Given the description of an element on the screen output the (x, y) to click on. 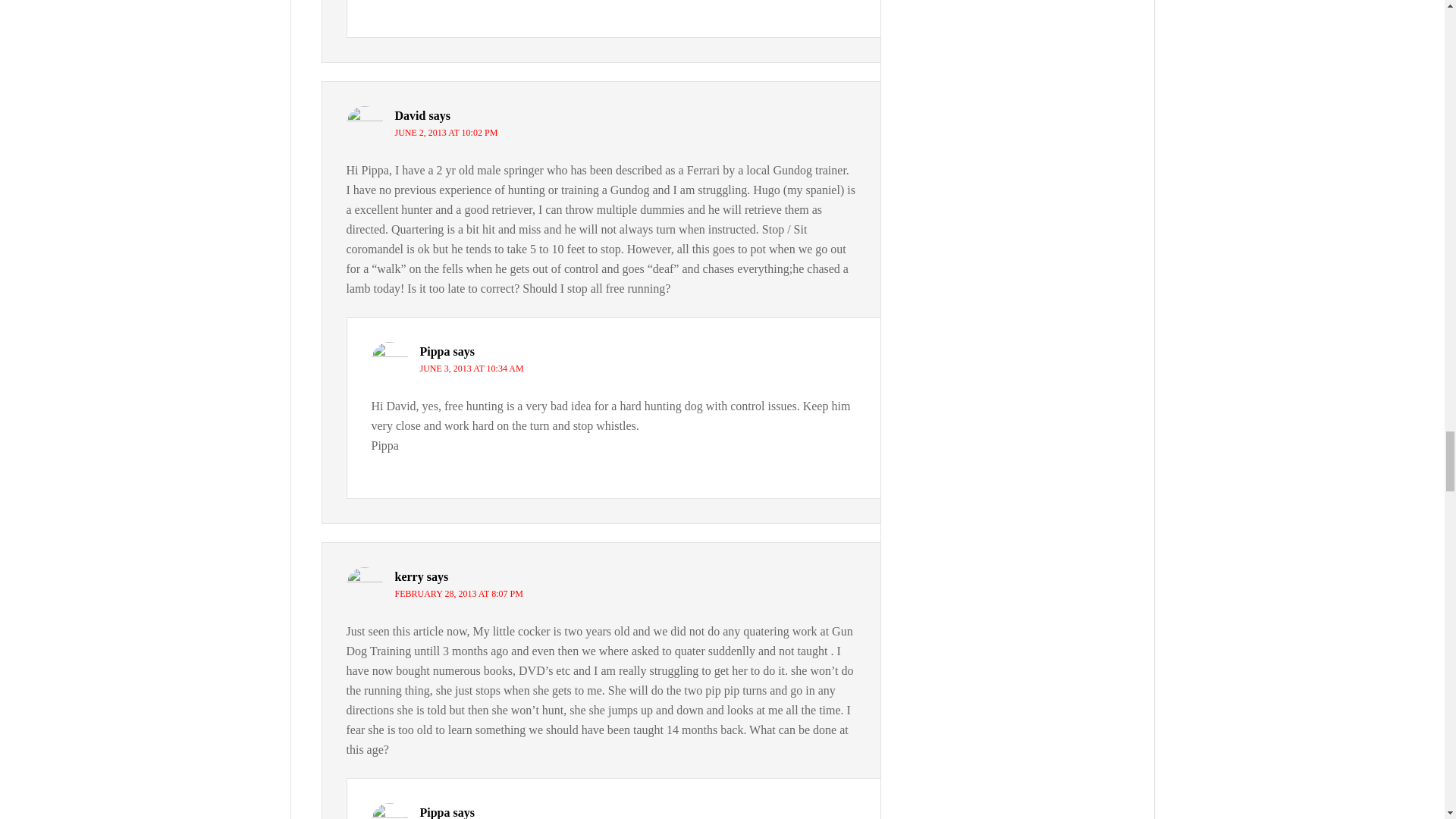
JUNE 2, 2013 AT 10:02 PM (445, 132)
